Given the description of an element on the screen output the (x, y) to click on. 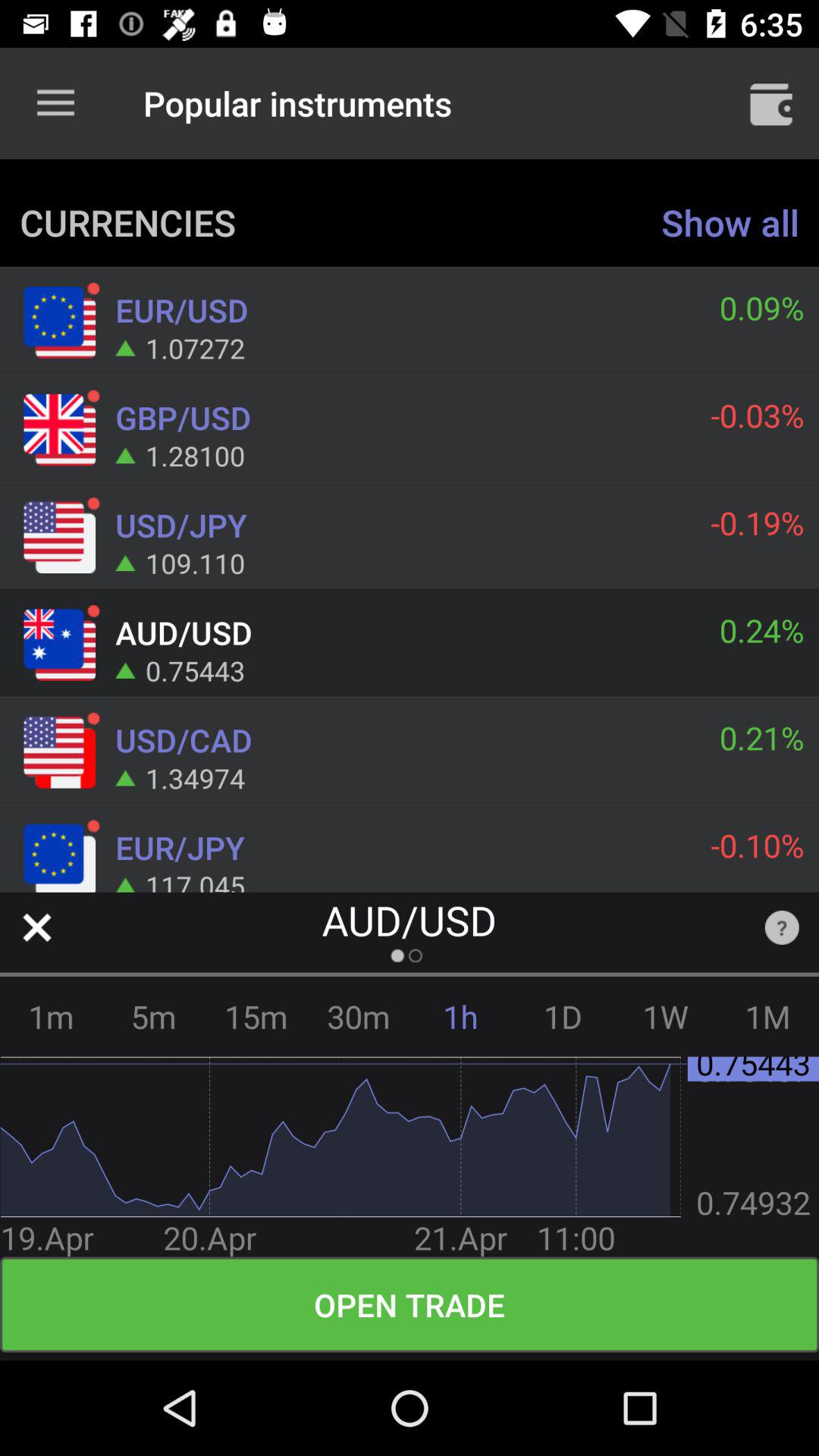
open the show all (730, 222)
